Given the description of an element on the screen output the (x, y) to click on. 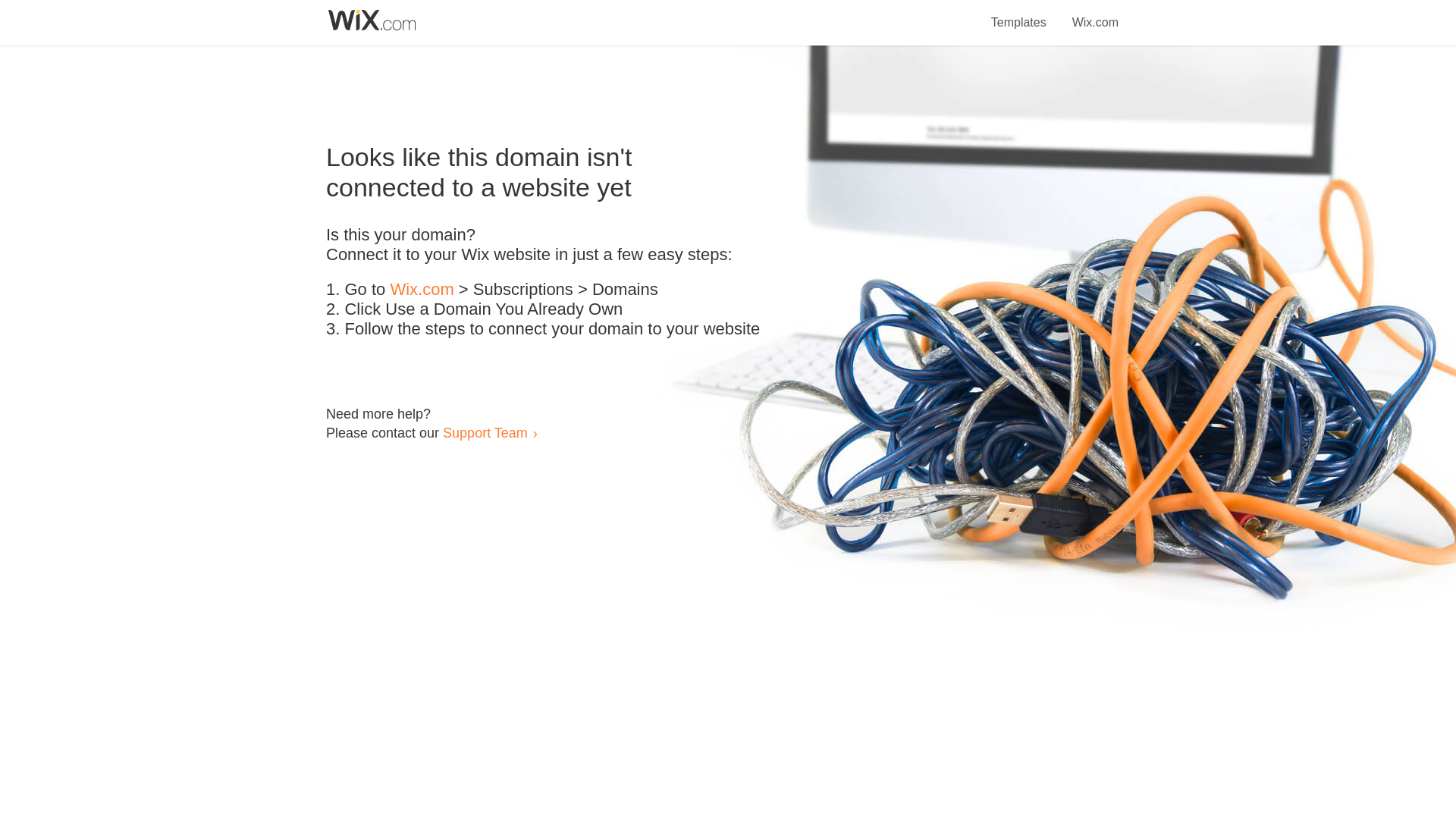
Templates (1018, 14)
Wix.com (421, 289)
Support Team (484, 432)
Wix.com (1095, 14)
